Given the description of an element on the screen output the (x, y) to click on. 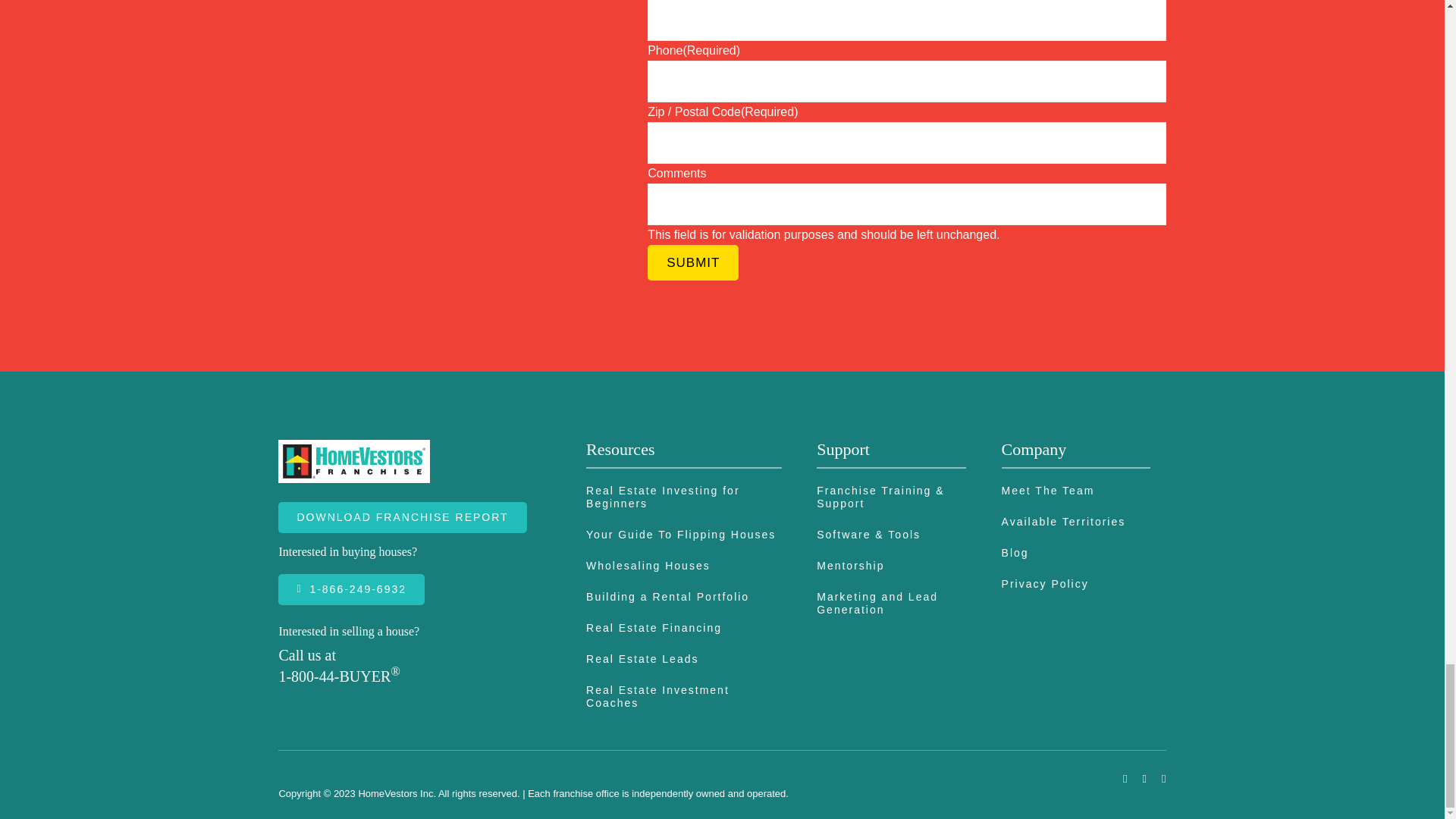
ug-hero-copyright-full (445, 75)
Submit (692, 262)
